Given the description of an element on the screen output the (x, y) to click on. 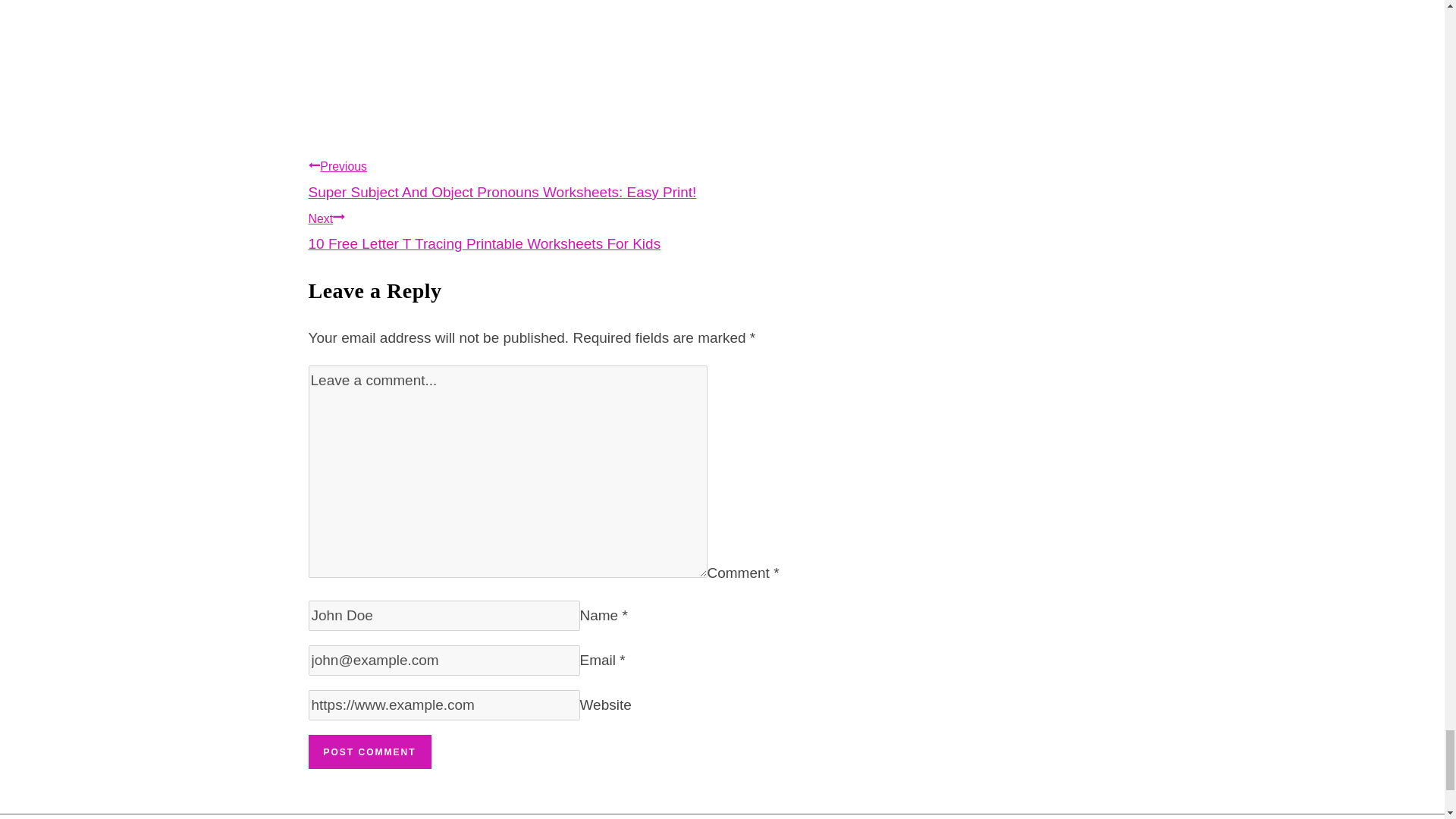
Post Comment (572, 228)
Post Comment (368, 751)
